Given the description of an element on the screen output the (x, y) to click on. 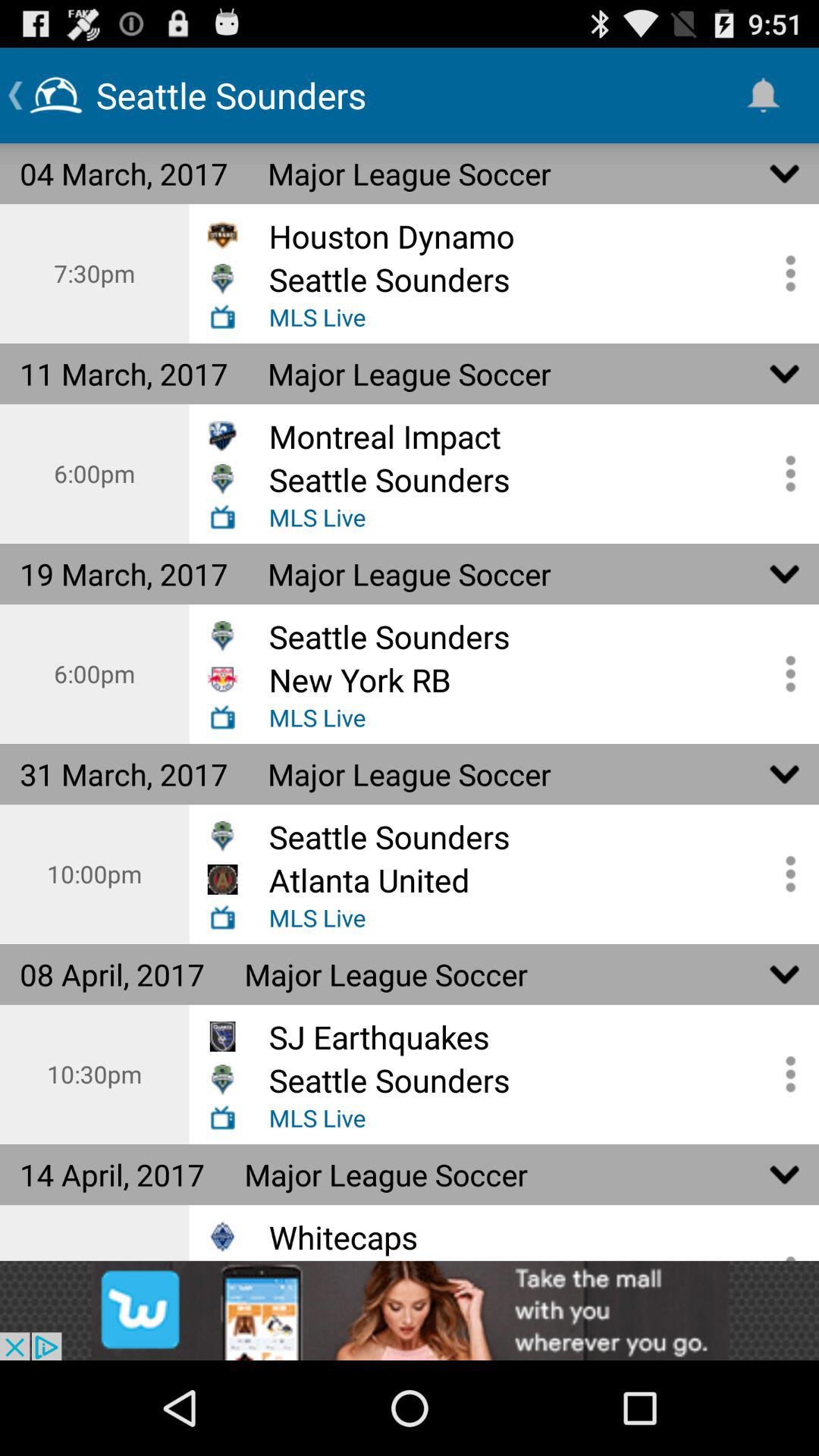
go to options (785, 1074)
